Given the description of an element on the screen output the (x, y) to click on. 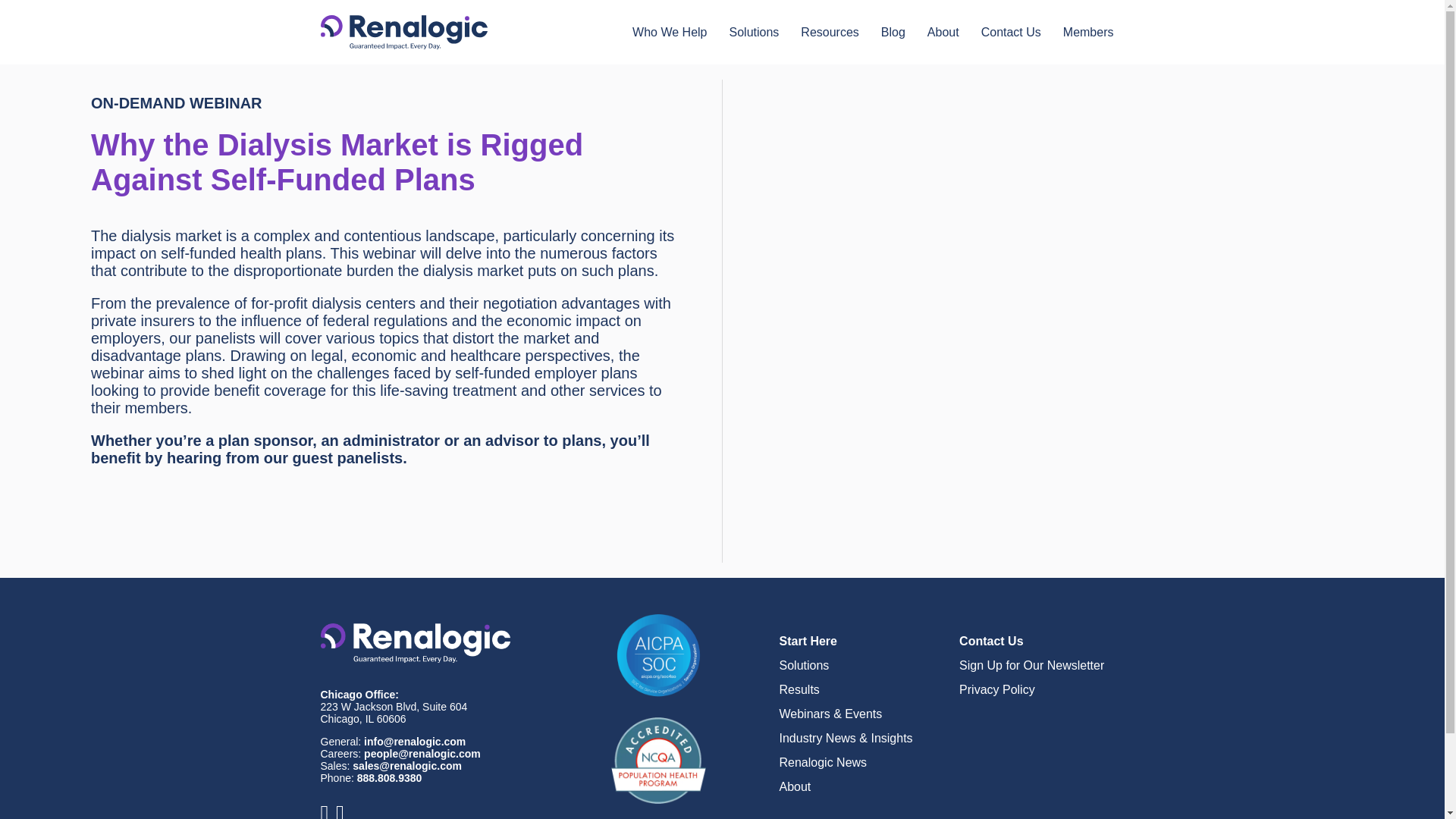
Results (798, 689)
renalogic-tagline-white (414, 642)
Renalogic News (822, 762)
About (943, 32)
Solutions (754, 32)
Who We Help (669, 32)
Resources (829, 32)
About (794, 786)
Contact Us (1011, 32)
Blog (892, 32)
Members (1088, 32)
AICPA (658, 654)
Start Here (807, 640)
accreditedlogo (658, 760)
Solutions (803, 665)
